Given the description of an element on the screen output the (x, y) to click on. 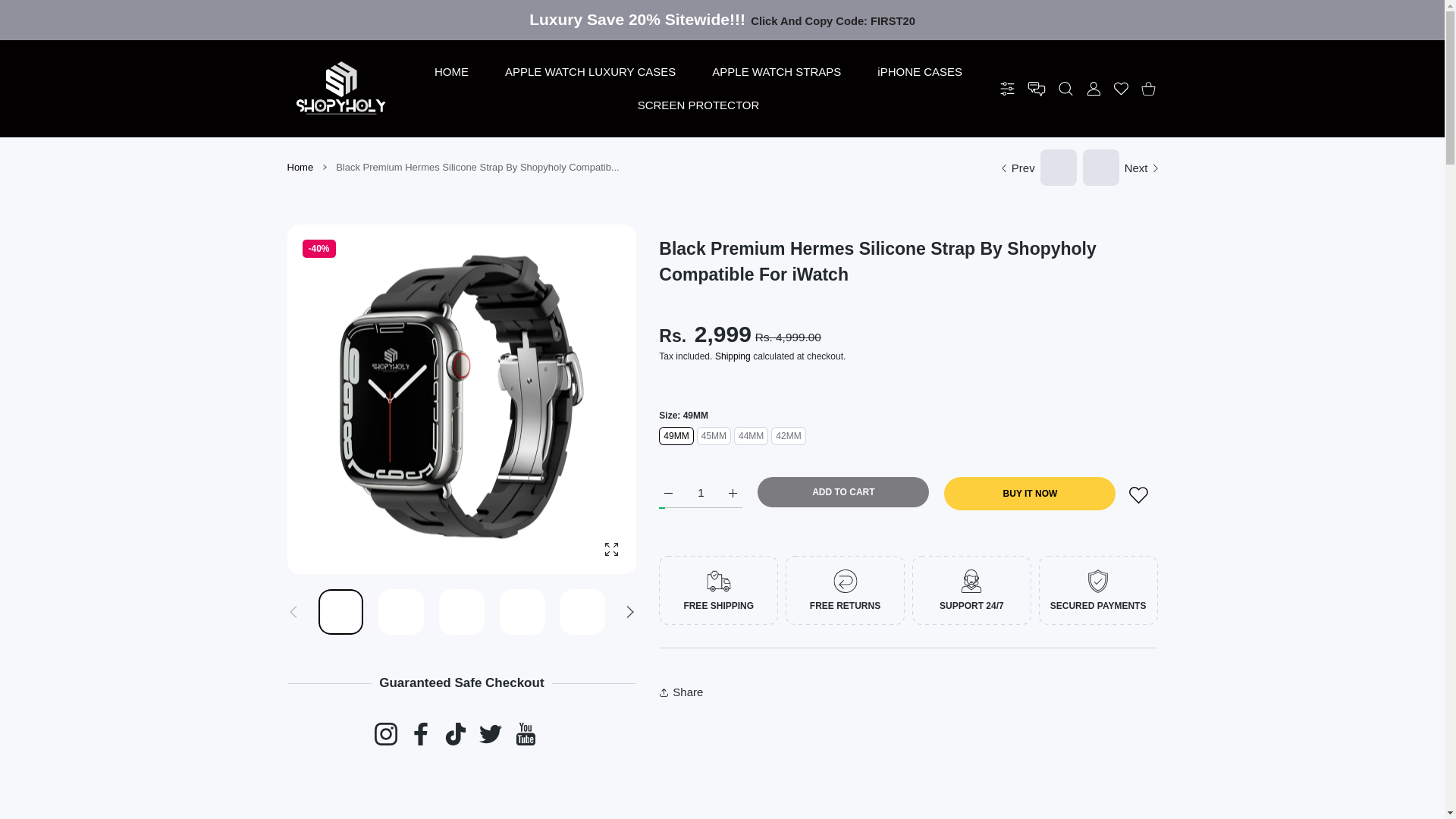
ShopyHoly (341, 88)
Settings (1007, 88)
APPLE WATCH LUXURY CASES (589, 71)
Wishlist (1120, 88)
iPHONE CASES (919, 71)
